Given the description of an element on the screen output the (x, y) to click on. 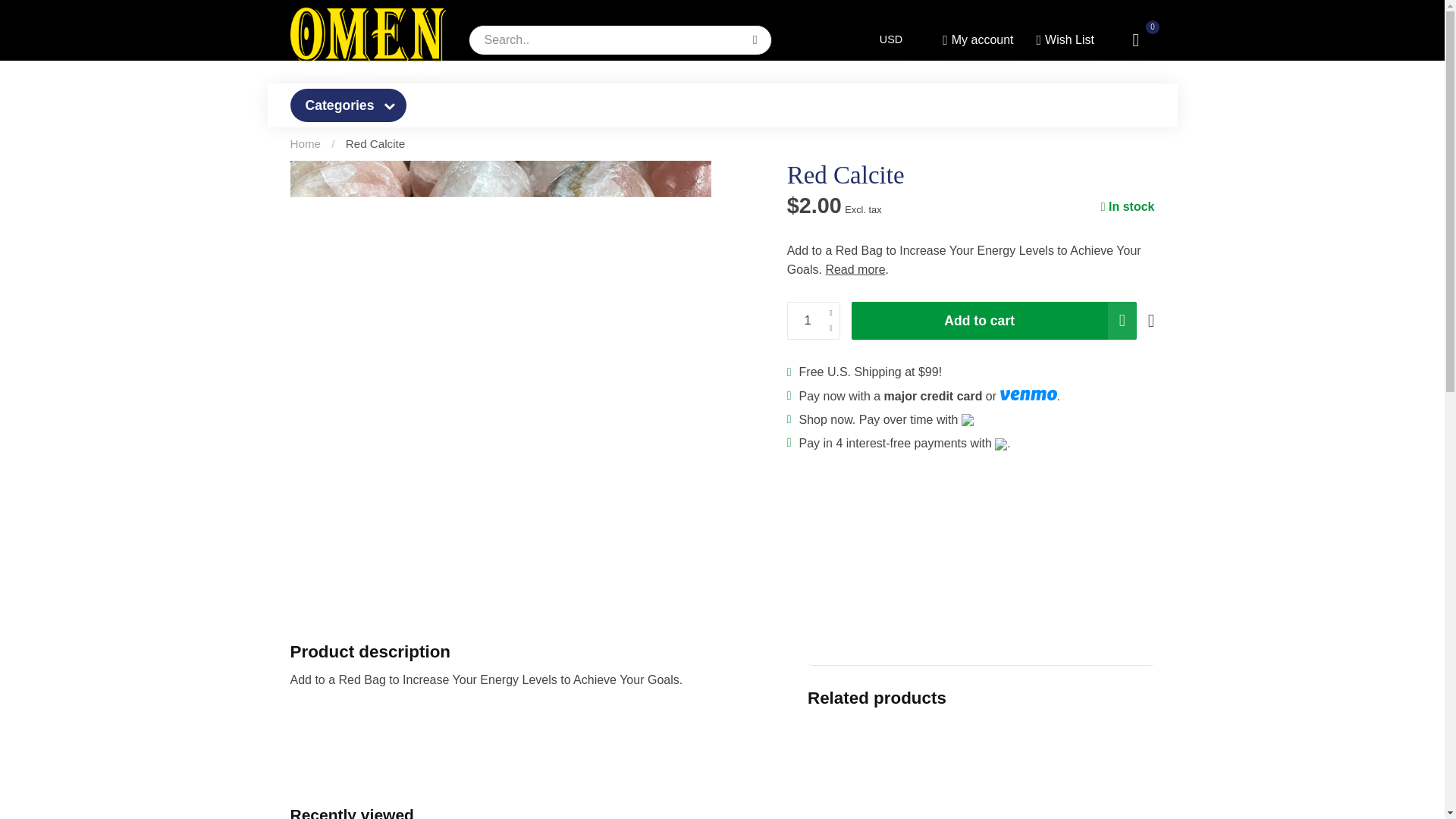
My account (977, 39)
Wish List (1064, 39)
0 (1135, 39)
Home (304, 143)
Wish List (1064, 39)
1 (813, 320)
